Given the description of an element on the screen output the (x, y) to click on. 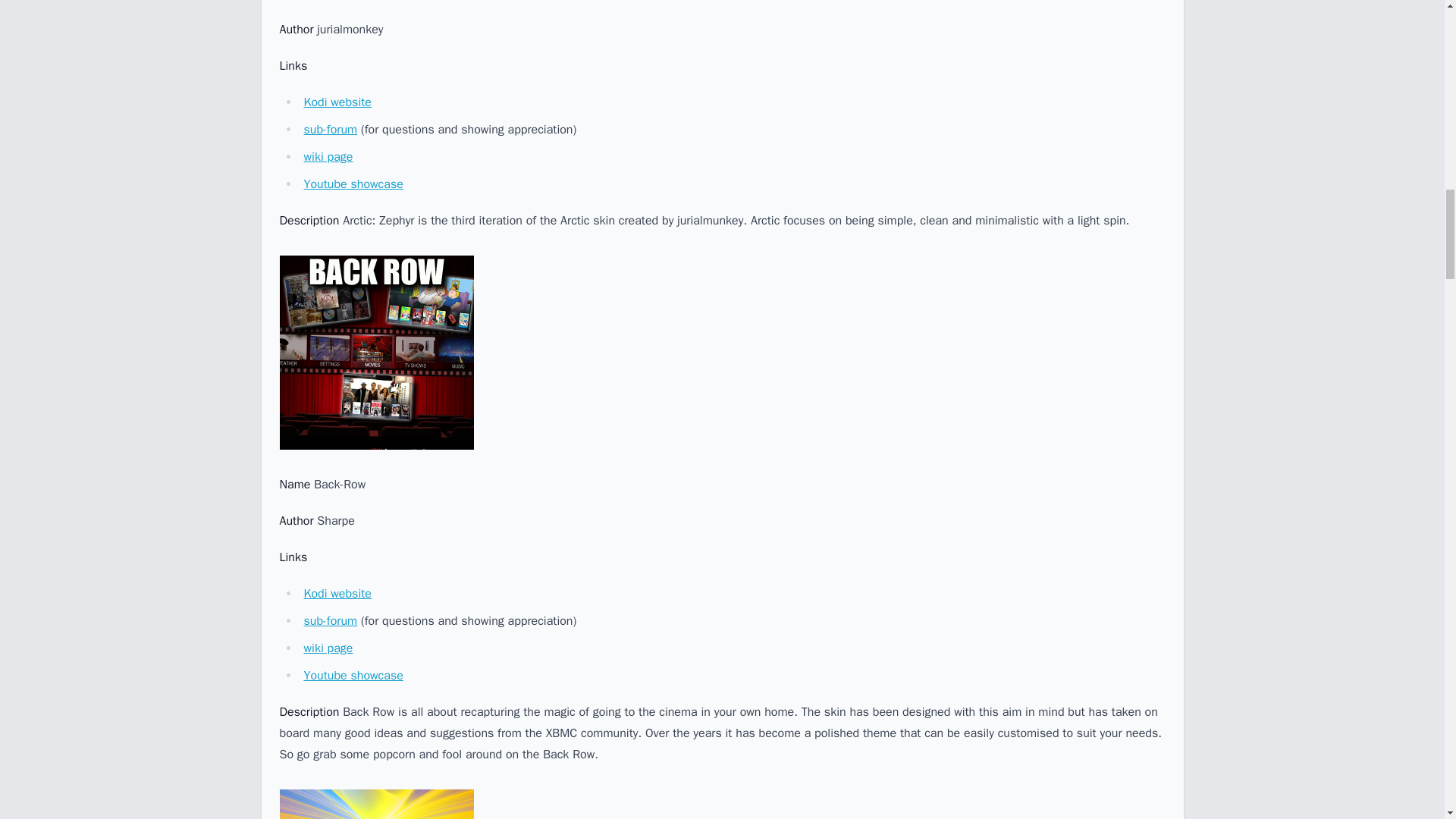
sub-forum (329, 620)
sub-forum (329, 129)
Kodi website (336, 102)
Kodi website (336, 593)
wiki page (327, 648)
wiki page (327, 156)
Youtube showcase (352, 183)
Youtube showcase (352, 675)
